Given the description of an element on the screen output the (x, y) to click on. 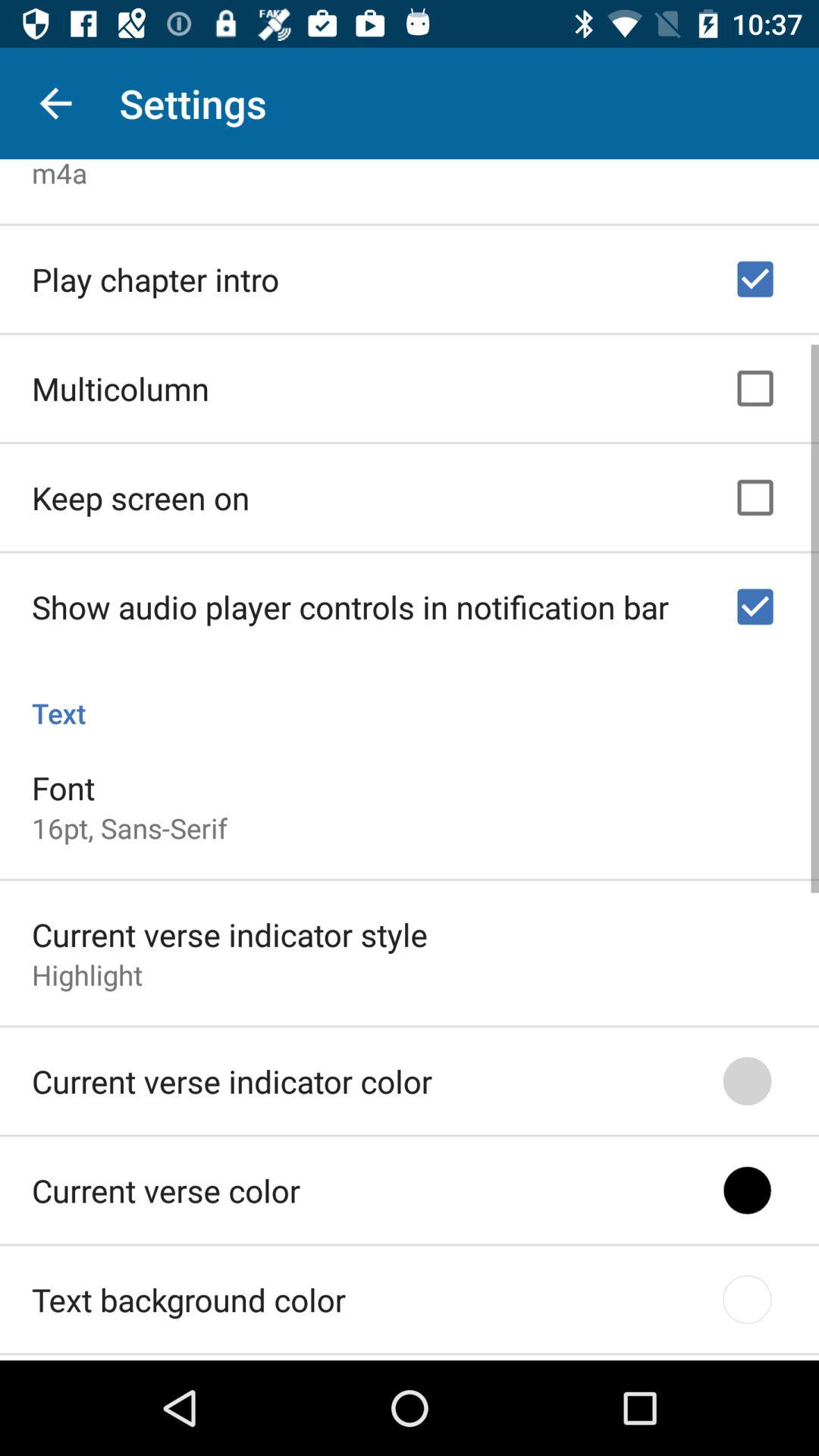
turn off the icon below play chapter intro (120, 383)
